Given the description of an element on the screen output the (x, y) to click on. 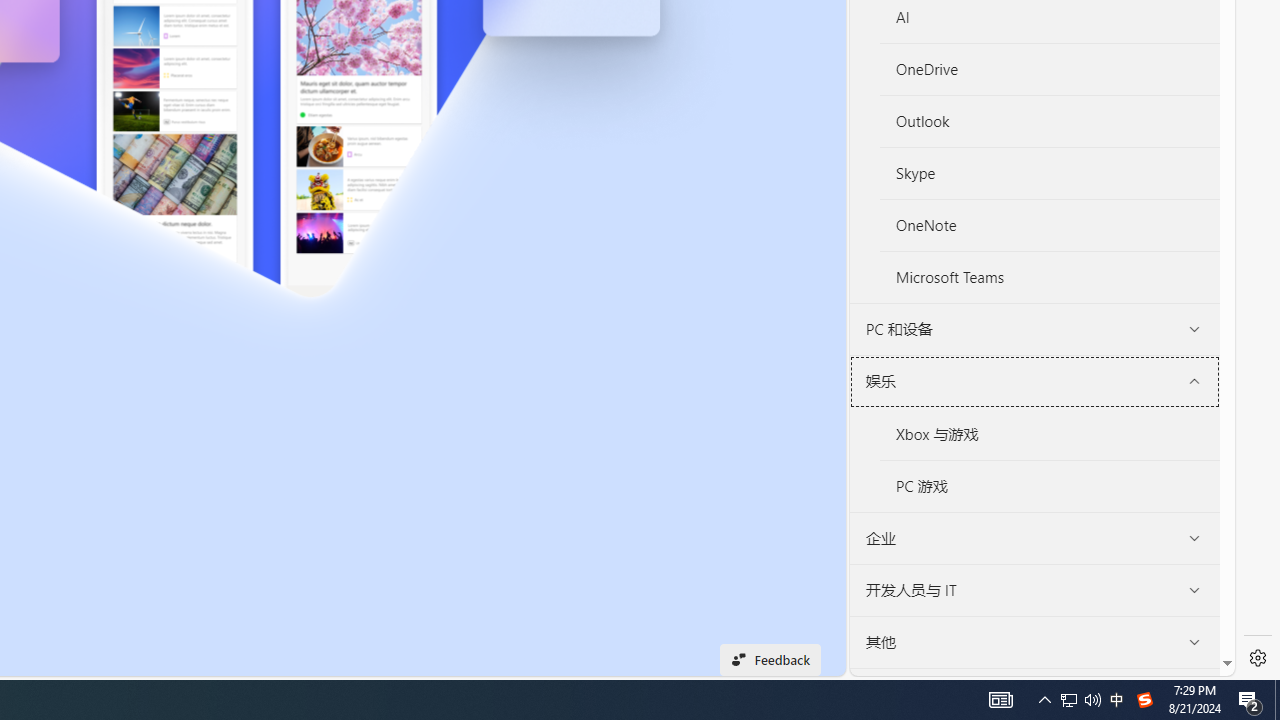
Skype (1049, 174)
